Given the description of an element on the screen output the (x, y) to click on. 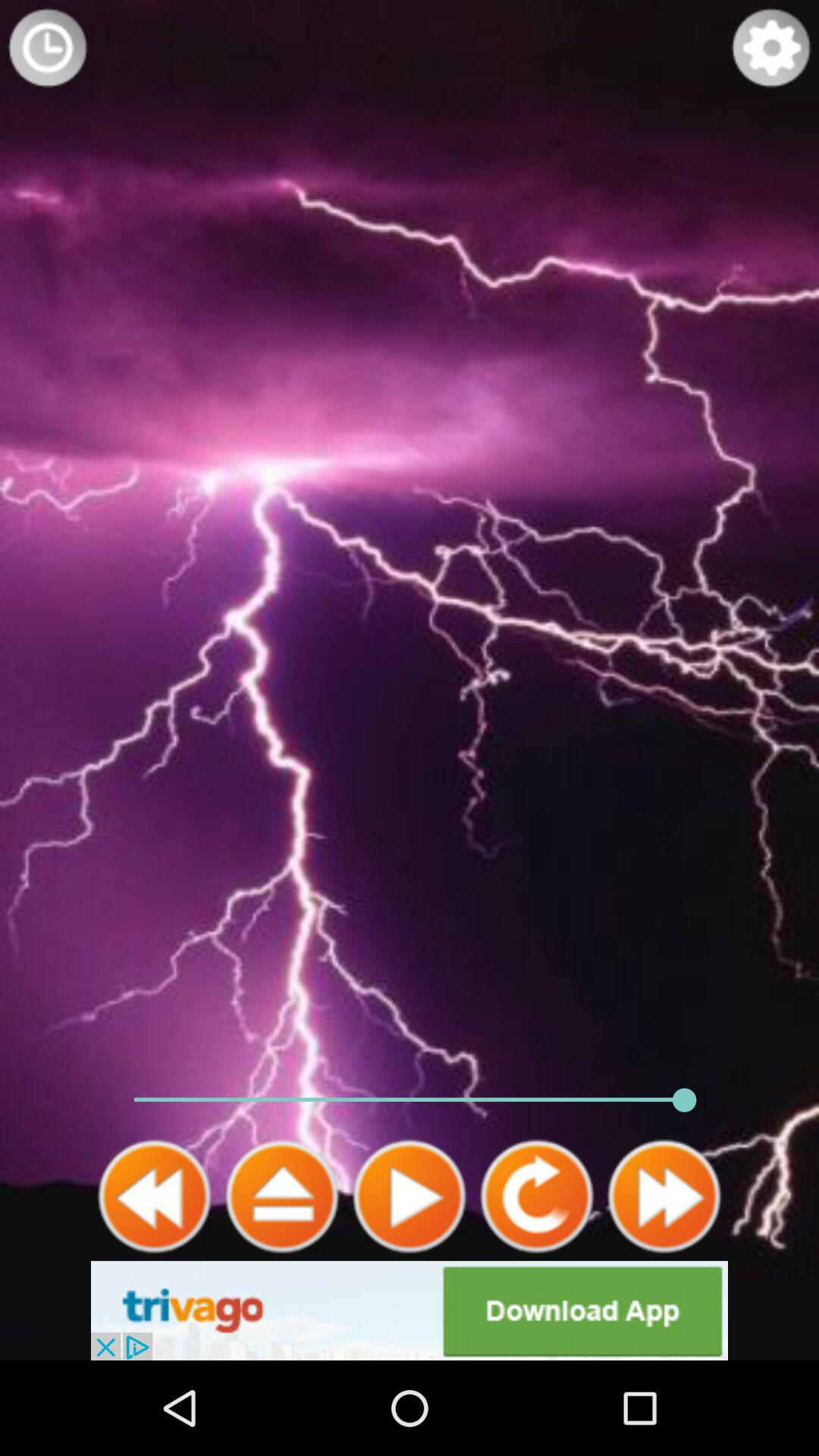
toggle repeat option (536, 1196)
